Given the description of an element on the screen output the (x, y) to click on. 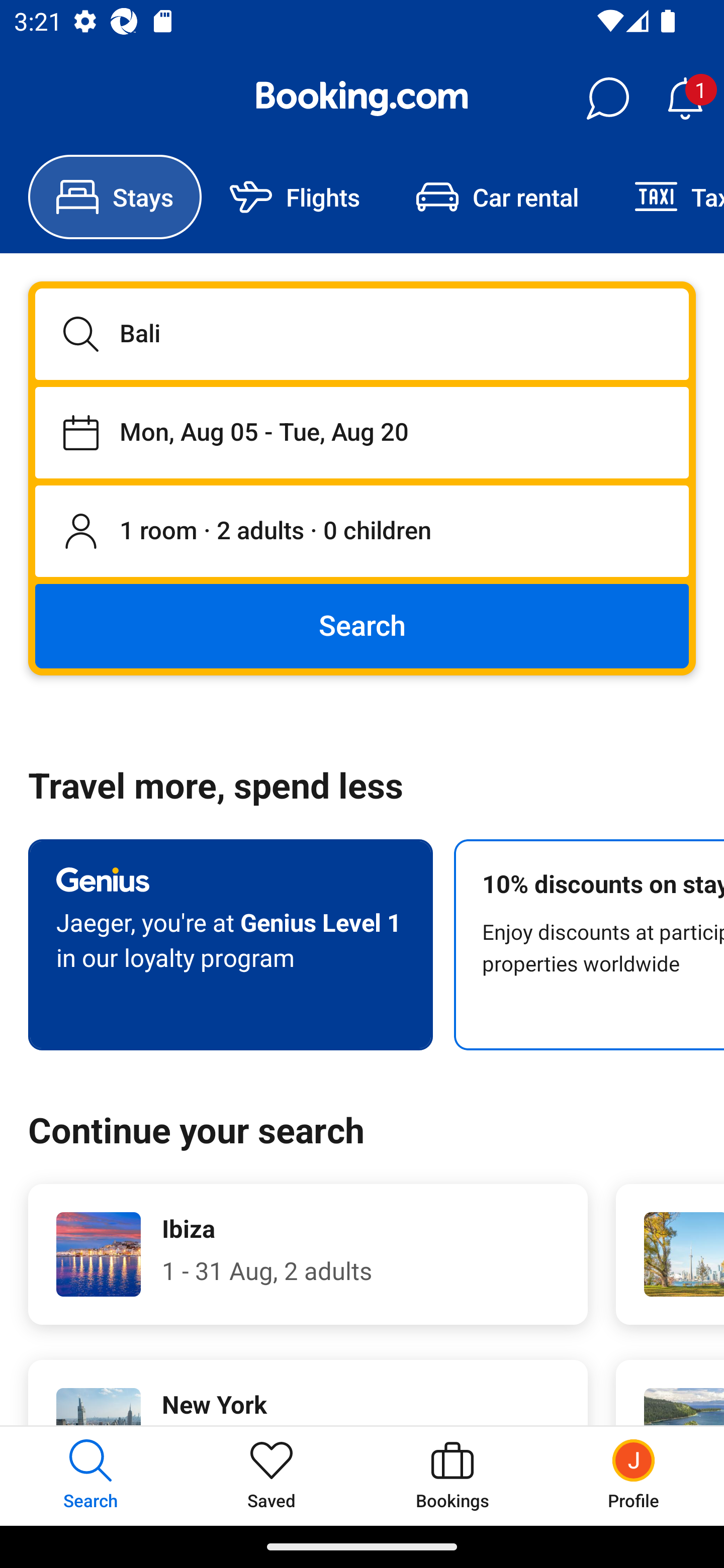
Messages (607, 98)
Notifications (685, 98)
Stays (114, 197)
Flights (294, 197)
Car rental (497, 197)
Taxi (665, 197)
Bali (361, 333)
Staying from Mon, Aug 05 until Tue, Aug 20 (361, 432)
1 room, 2 adults, 0 children (361, 531)
Search (361, 625)
Ibiza 1 - 31 Aug, 2 adults (307, 1253)
Saved (271, 1475)
Bookings (452, 1475)
Profile (633, 1475)
